Given the description of an element on the screen output the (x, y) to click on. 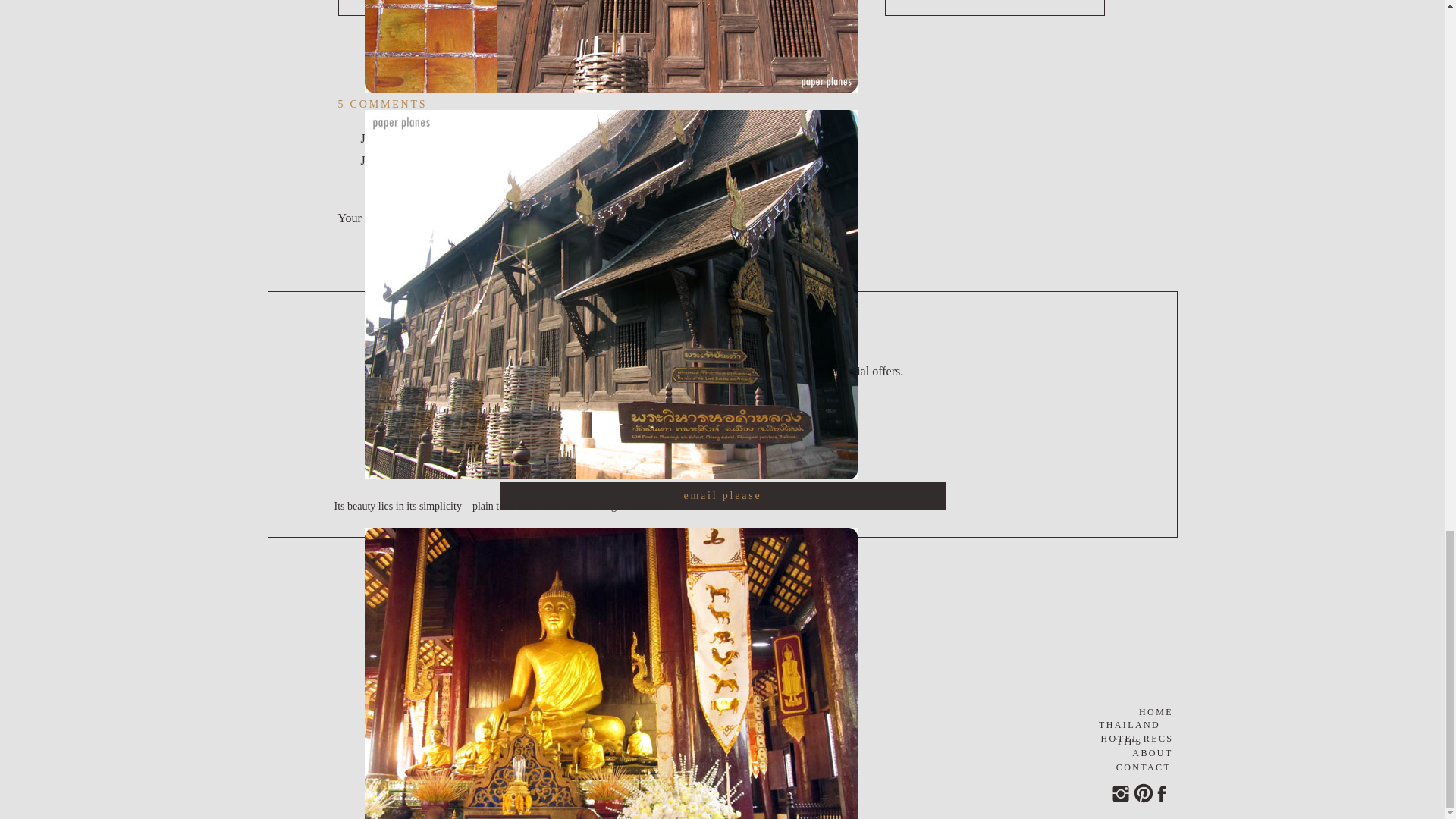
October 2, 2013 at 10:57 am (430, 526)
Reply (375, 590)
Alana (398, 374)
yes (345, 626)
Kimberly Bryant (402, 259)
January 30, 2013 at 4:20 pm (430, 160)
February 2, 2013 at 3:56 pm (452, 396)
Post Comment (381, 695)
Reply (375, 345)
October 2, 2013 at 12:04 pm (453, 641)
Reply (398, 460)
February 2, 2013 at 10:56 am (432, 282)
Alana Morgan (419, 619)
Reply (375, 223)
